Given the description of an element on the screen output the (x, y) to click on. 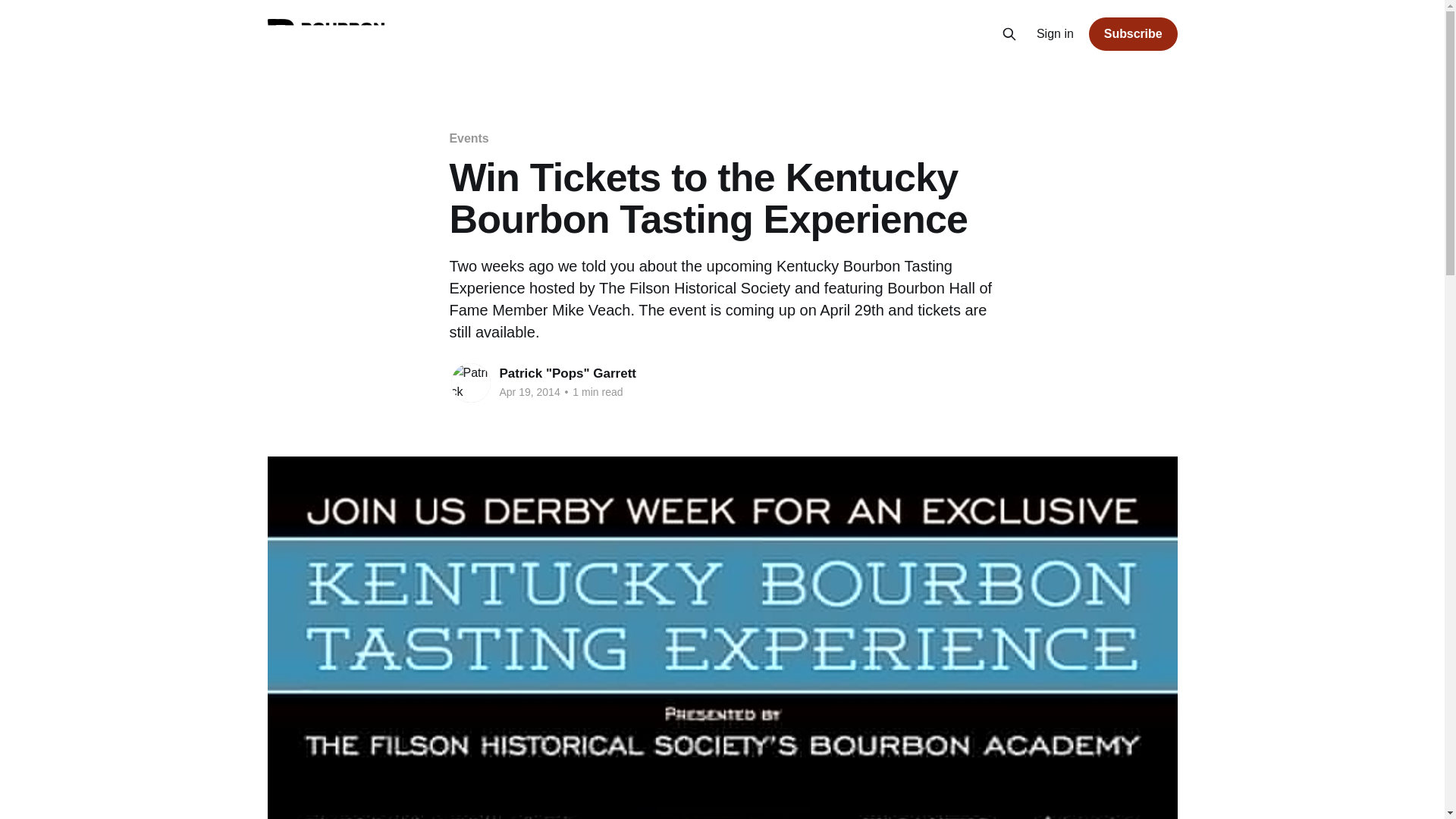
Patrick "Pops" Garrett (567, 373)
Subscribe (1133, 33)
Sign in (1055, 34)
Events (467, 137)
